Given the description of an element on the screen output the (x, y) to click on. 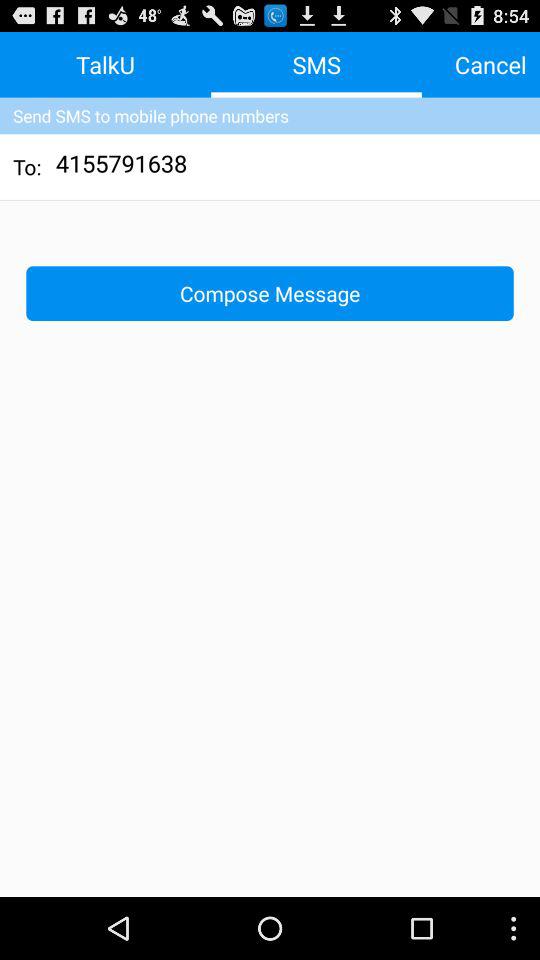
click app above send sms to icon (105, 64)
